Given the description of an element on the screen output the (x, y) to click on. 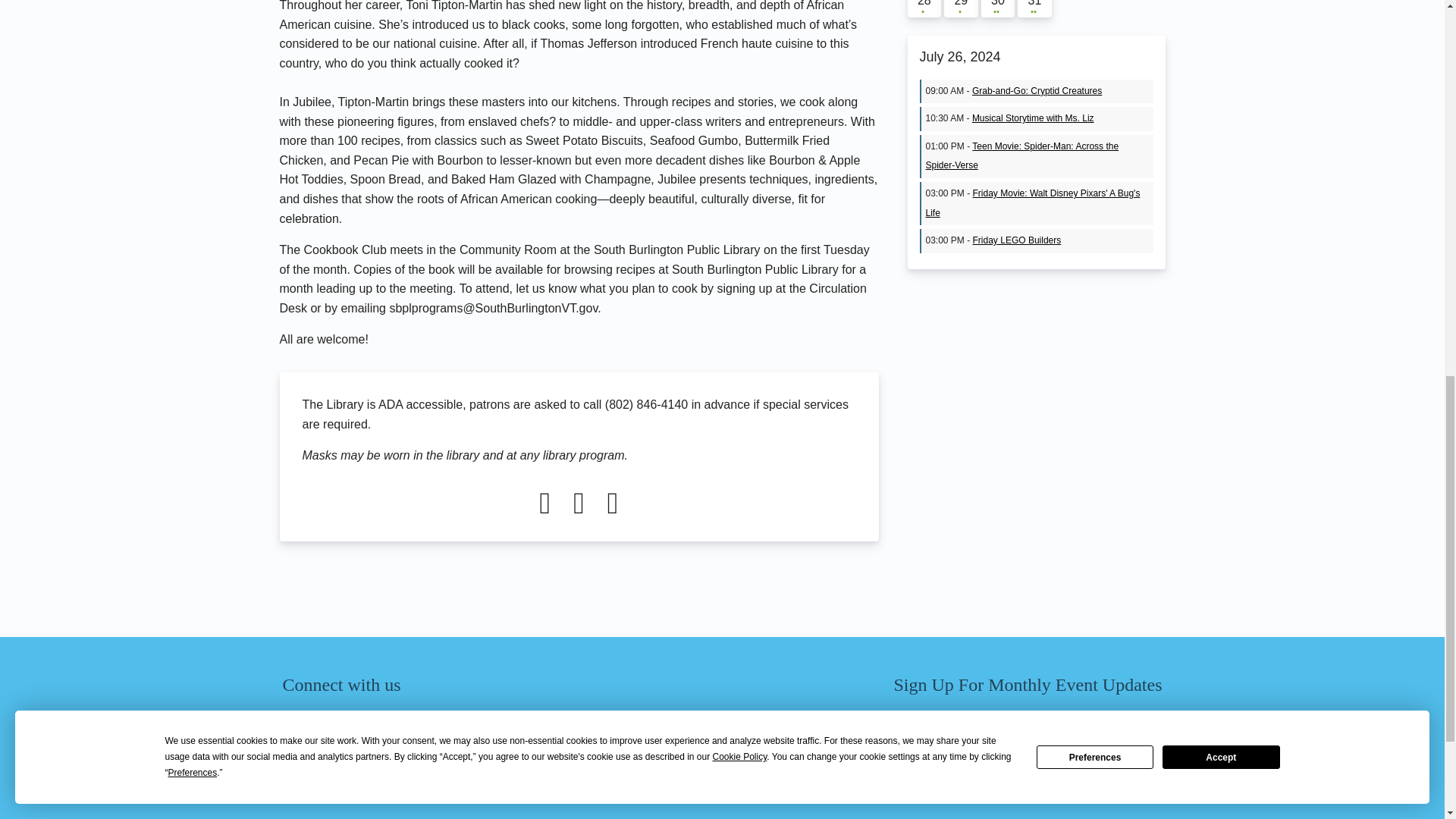
View our E-Calendar (415, 725)
Follow us on Facebook (301, 725)
Read our Blog (453, 725)
Follow us on YouTube (377, 725)
Follow us on Instagram (339, 725)
Subscribe (942, 770)
